Given the description of an element on the screen output the (x, y) to click on. 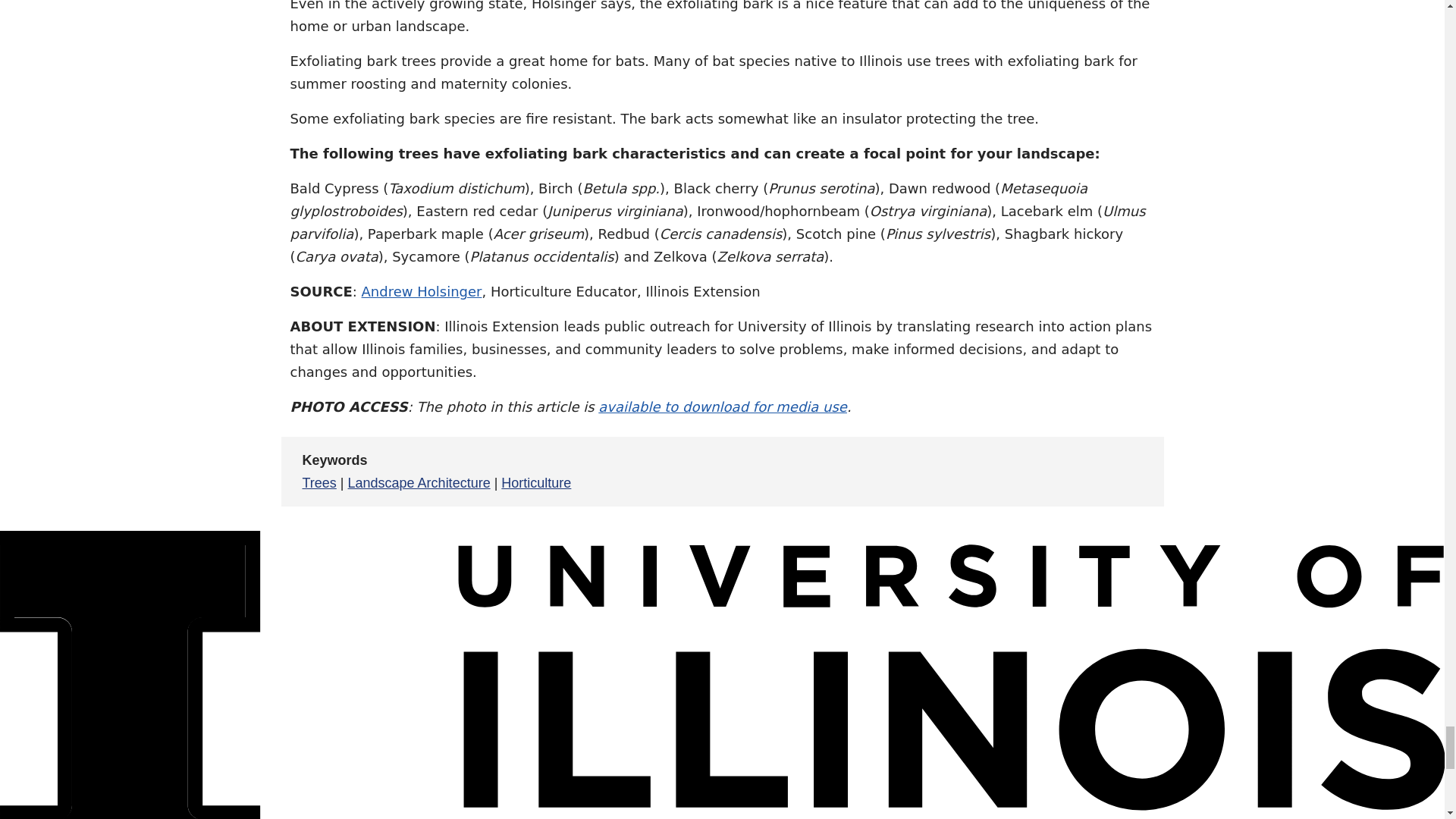
Share to X (1026, 471)
Share to Facebook (990, 471)
Share to Linkedin (1063, 471)
Share to Email (1099, 471)
